Given the description of an element on the screen output the (x, y) to click on. 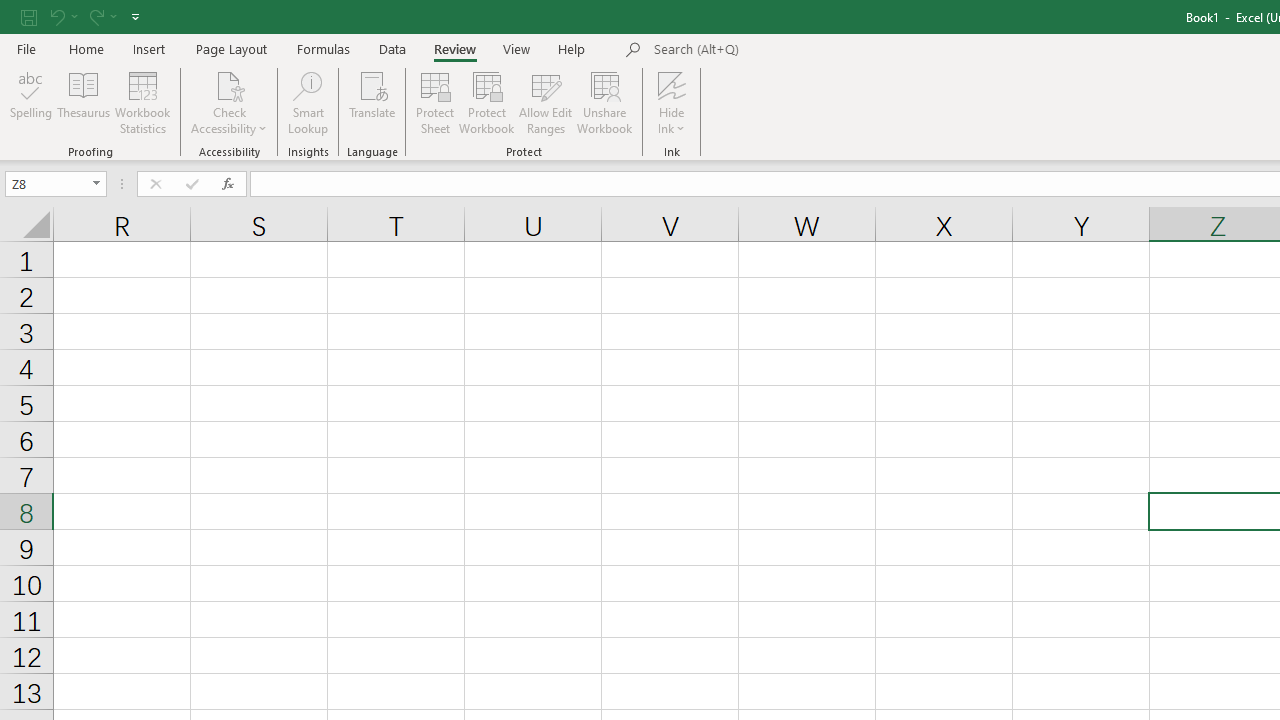
Allow Edit Ranges (545, 102)
Formulas (323, 48)
Hide Ink (671, 84)
Help (572, 48)
Review (454, 48)
More Options (671, 121)
File Tab (26, 48)
Translate (372, 102)
Save (29, 15)
Thesaurus... (83, 102)
Home (86, 48)
